Given the description of an element on the screen output the (x, y) to click on. 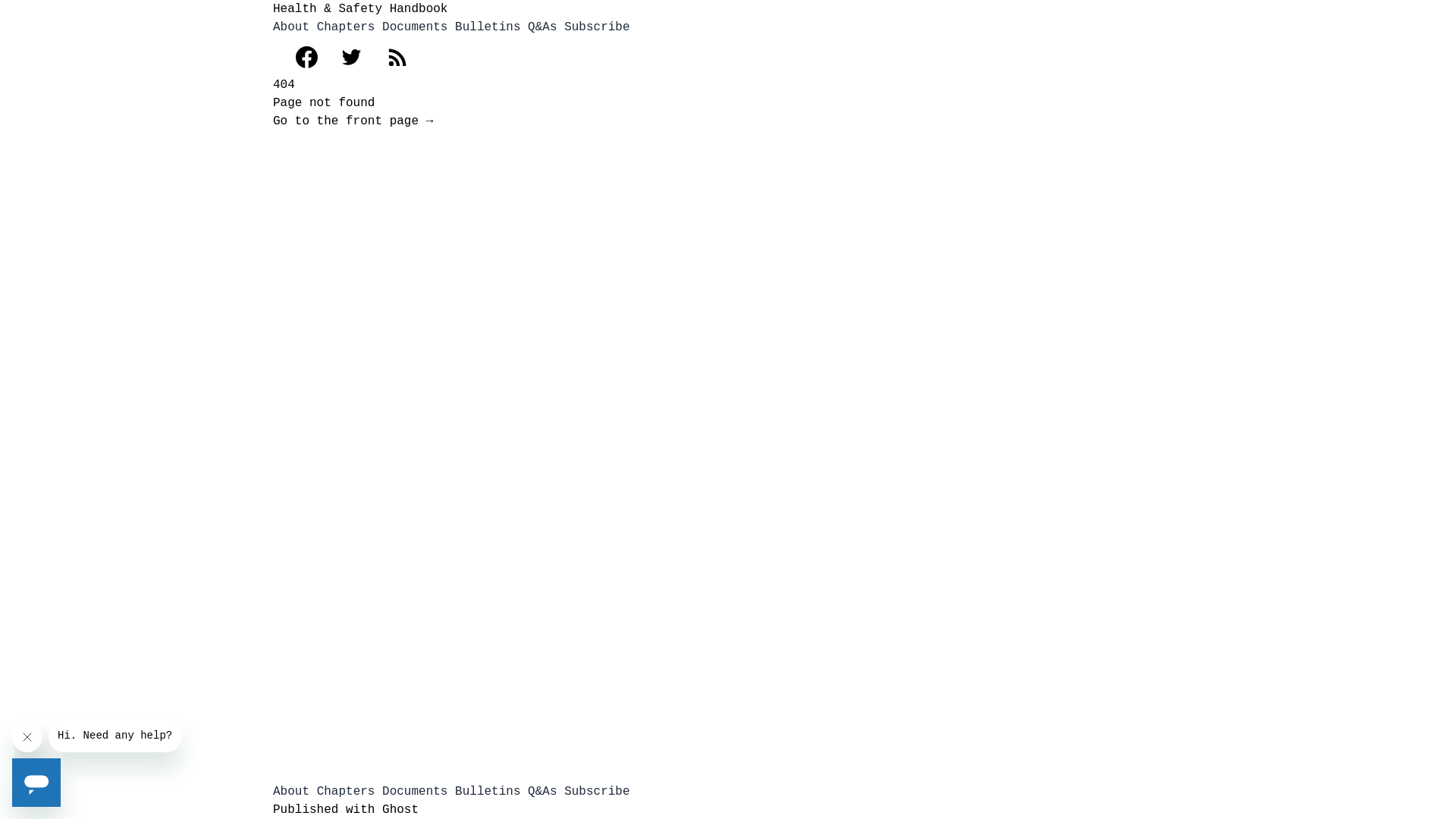
Bulletins Element type: text (487, 27)
Chapters Element type: text (345, 791)
Ghost Element type: text (400, 809)
Facebook Element type: hover (299, 56)
Message from company Element type: hover (114, 735)
RSS Element type: hover (396, 55)
About Element type: text (291, 27)
Documents Element type: text (414, 791)
Chapters Element type: text (345, 27)
Q&As Element type: text (541, 27)
Button to launch messaging window Element type: hover (36, 782)
Subscribe Element type: text (596, 791)
Close message Element type: hover (27, 736)
Documents Element type: text (414, 27)
Bulletins Element type: text (487, 791)
Q&As Element type: text (541, 791)
About Element type: text (291, 791)
Twitter Element type: hover (351, 56)
Health & Safety Handbook Element type: text (360, 8)
Subscribe Element type: text (596, 27)
